Given the description of an element on the screen output the (x, y) to click on. 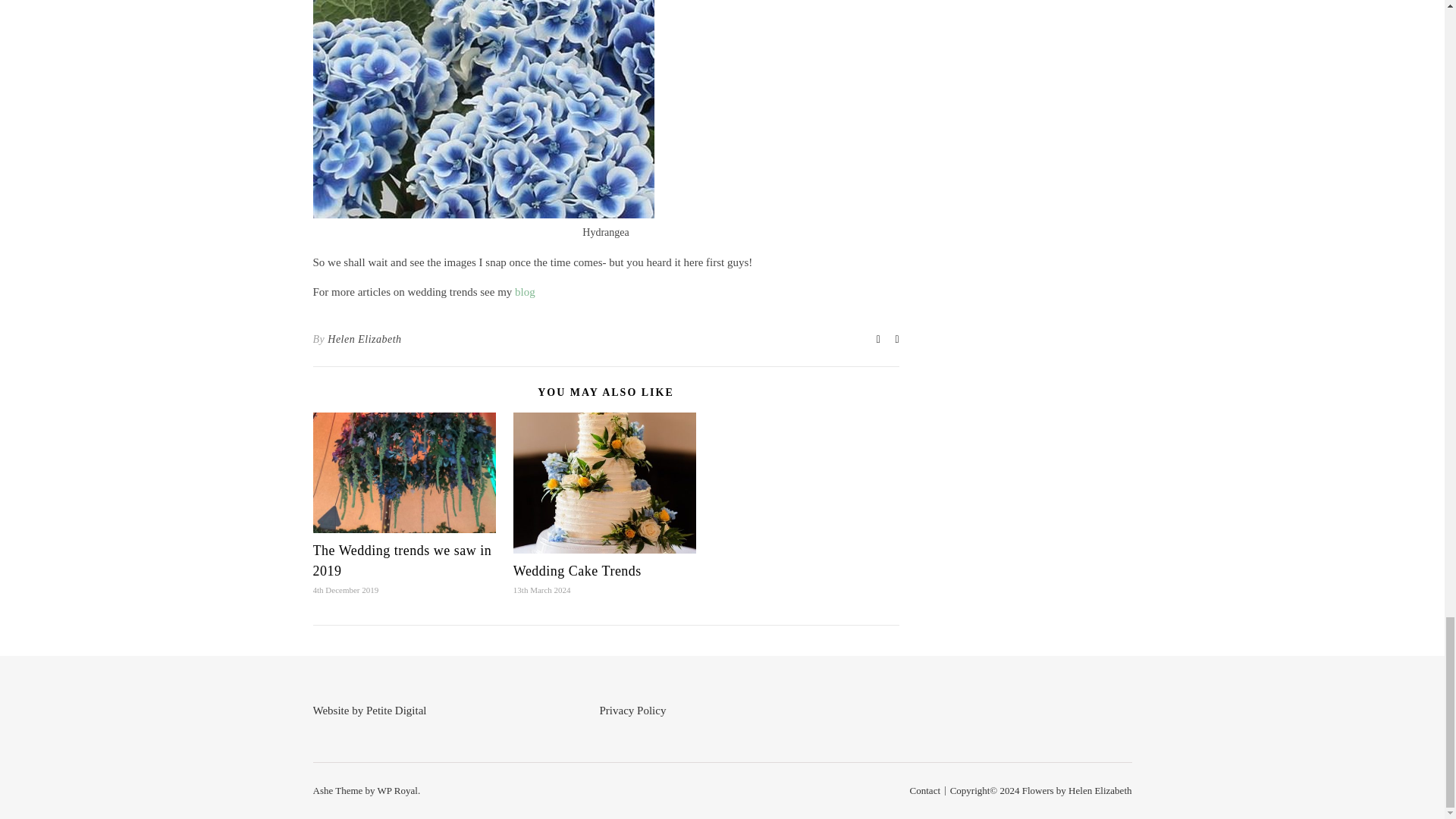
Posts by Helen Elizabeth (364, 339)
